Given the description of an element on the screen output the (x, y) to click on. 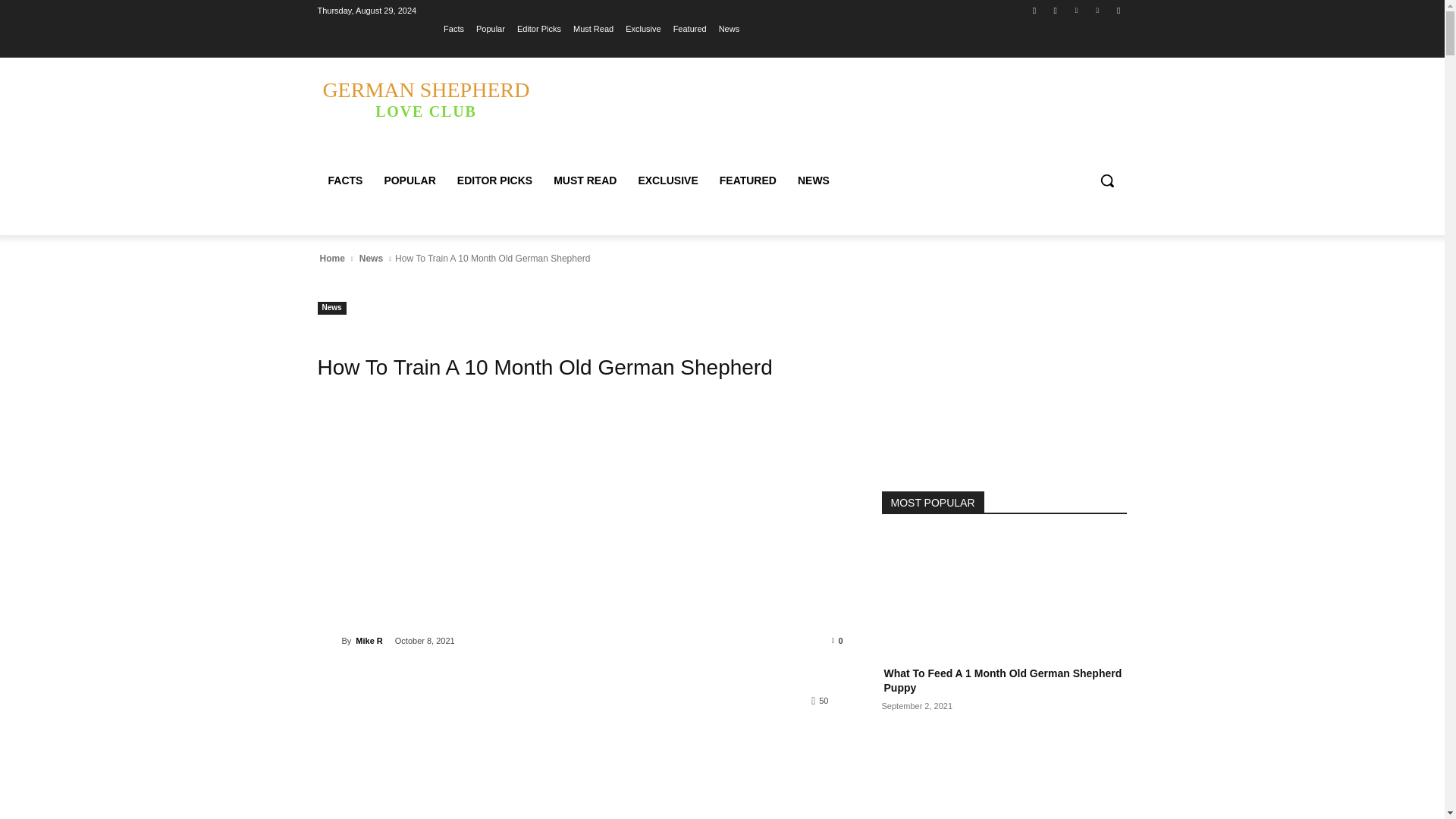
News (729, 28)
EXCLUSIVE (667, 180)
NEWS (813, 180)
Popular (490, 28)
Exclusive (643, 28)
EDITOR PICKS (494, 180)
MUST READ (585, 180)
Facebook (1034, 9)
Editor Picks (538, 28)
Featured (689, 28)
